Given the description of an element on the screen output the (x, y) to click on. 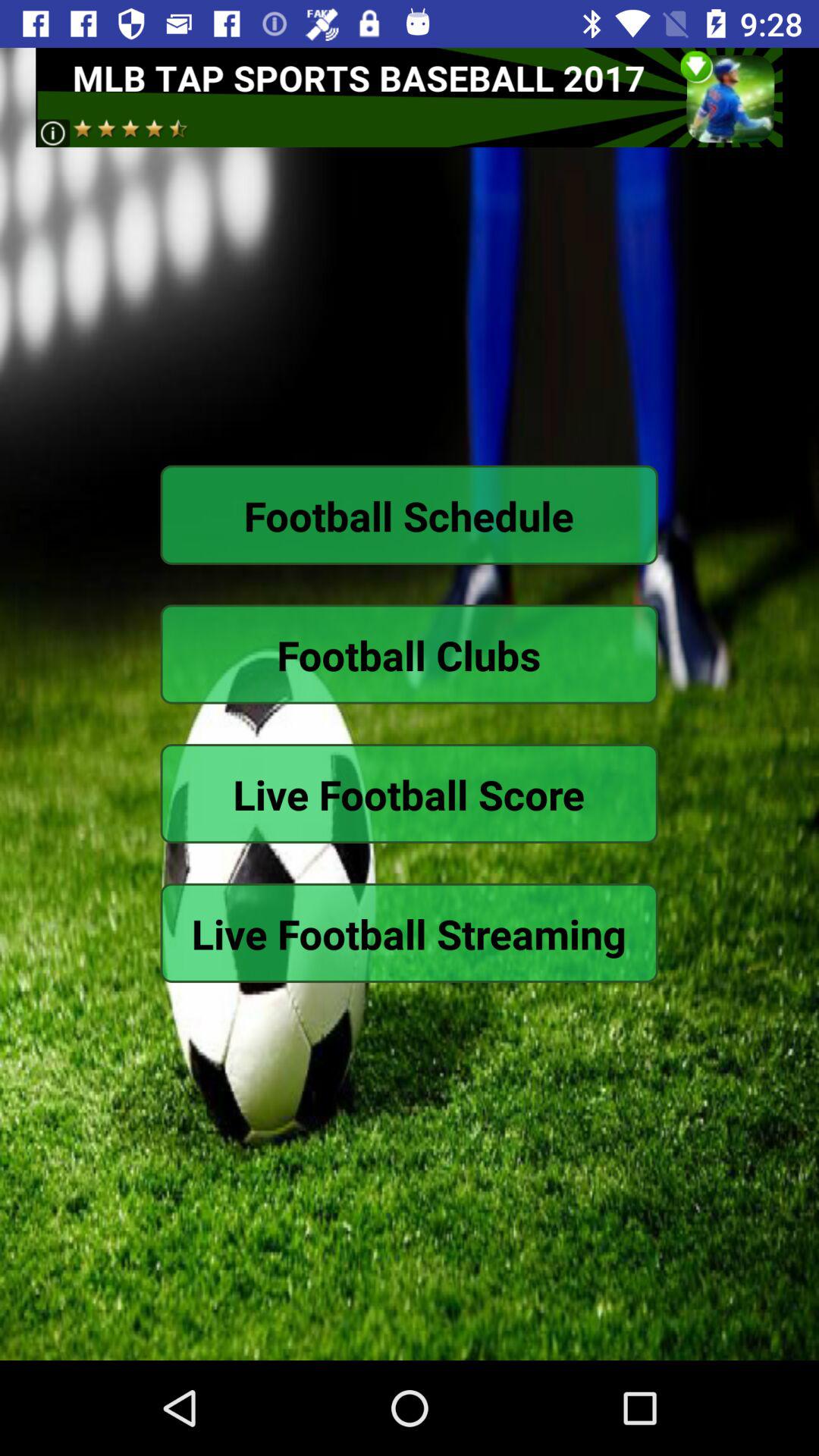
open advertisement (408, 97)
